Given the description of an element on the screen output the (x, y) to click on. 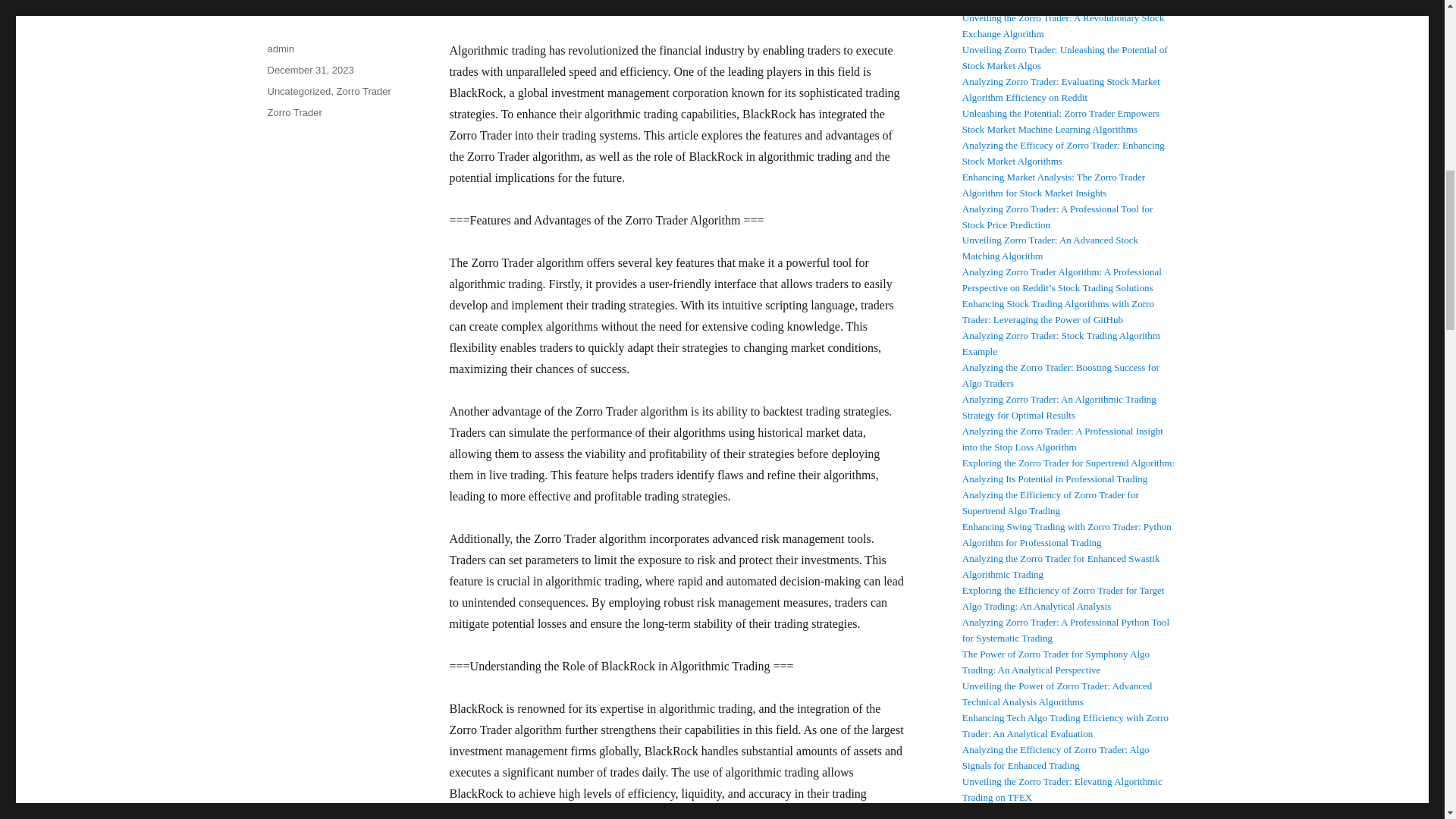
Zorro Trader (363, 91)
December 31, 2023 (309, 70)
Zorro Trader (293, 112)
Analyzing Zorro Trader: Stock Trading Algorithm Example (1061, 343)
Unveiling Zorro Trader: An Advanced Stock Matching Algorithm (1050, 247)
admin (280, 48)
